Given the description of an element on the screen output the (x, y) to click on. 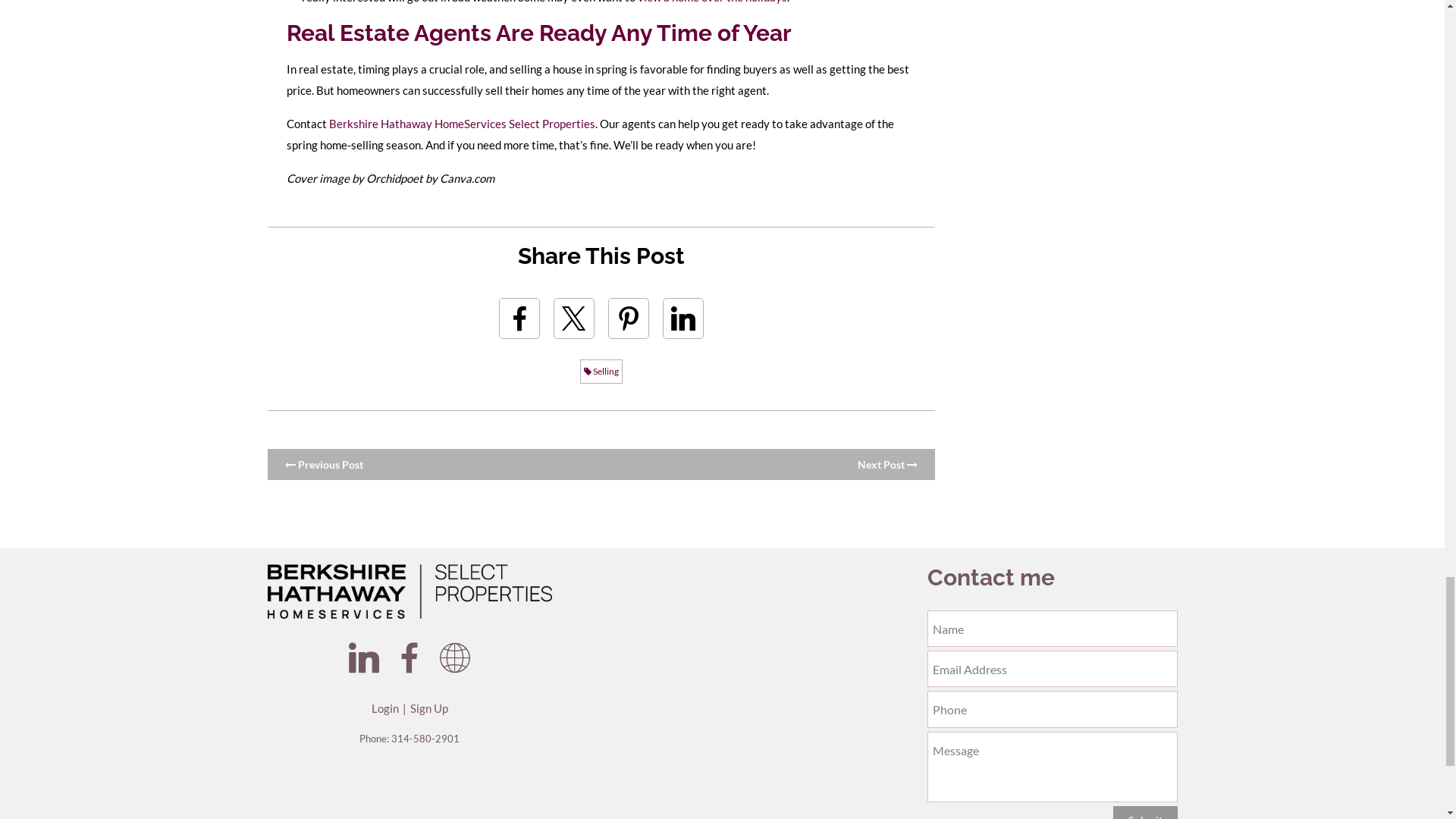
Share on Facebook (519, 318)
Visit me on LinkedIn (363, 657)
Visit me on Facebook (409, 657)
Submit (1145, 812)
Visit me on Website (454, 657)
Share on Linked In (682, 318)
Share on X (573, 318)
Share on Pinterest (628, 318)
